Given the description of an element on the screen output the (x, y) to click on. 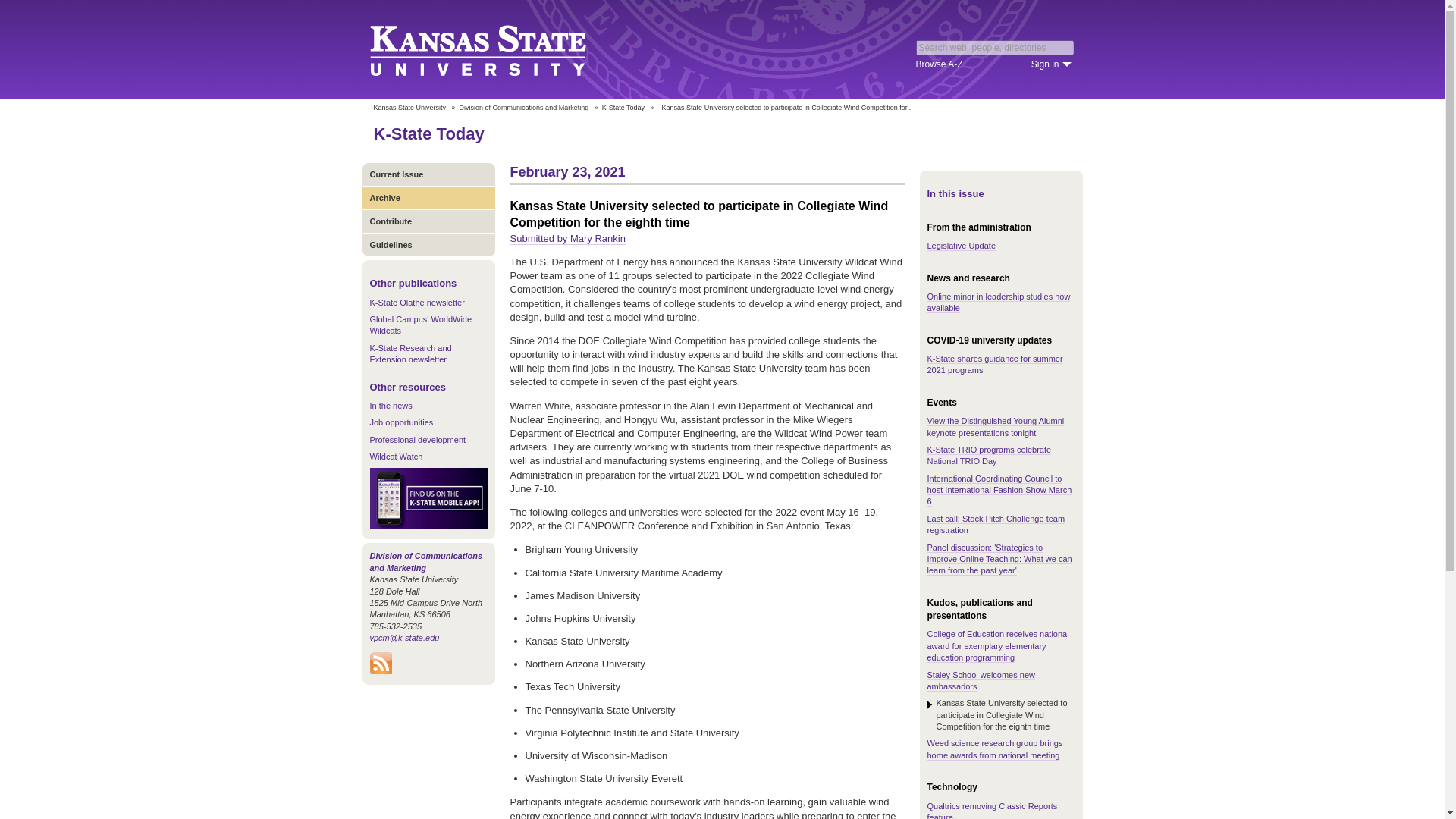
K-State Today (427, 133)
Global Campus' WorldWide Wildcats (420, 324)
Division of Communications and Marketing (426, 561)
K-State Research and Extension newsletter (410, 353)
K-State Today (623, 107)
K-State Olathe newsletter (416, 302)
Kansas State University (408, 107)
K-State shares guidance for summer 2021 programs (994, 364)
Legislative Update (960, 245)
Archive (428, 197)
Sign in (1050, 64)
